Given the description of an element on the screen output the (x, y) to click on. 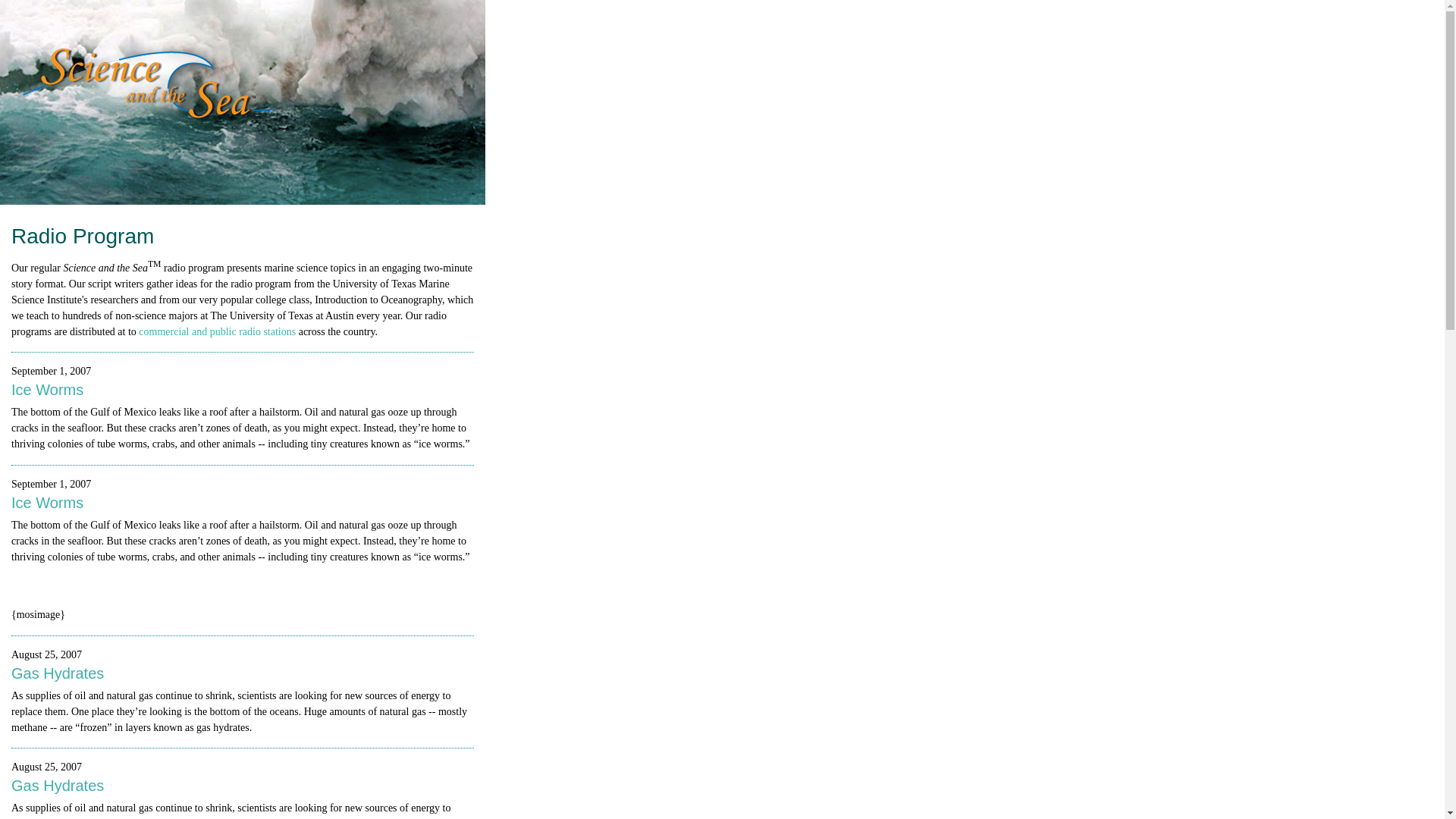
commercial and public radio stations (216, 331)
Ice Worms (46, 382)
Home (148, 90)
Ice Worms (46, 495)
Gas Hydrates (57, 778)
Gas Hydrates (57, 666)
